Given the description of an element on the screen output the (x, y) to click on. 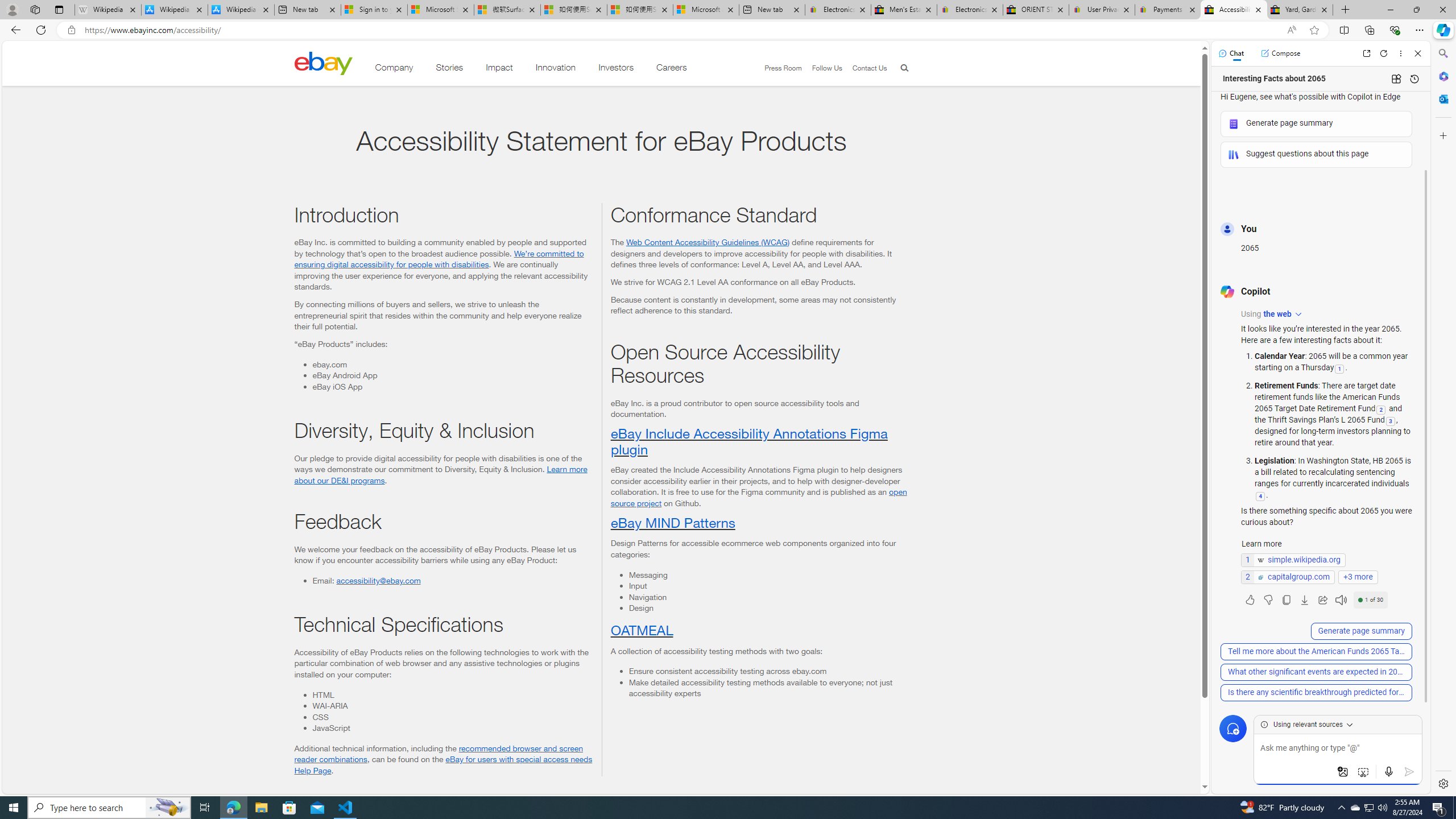
Company (393, 69)
Careers (671, 69)
eBay MIND Patterns (672, 522)
Careers (671, 69)
Class: desktop (323, 63)
eBay Android App (451, 374)
accessibility@ebay.com (378, 579)
Contact Us (868, 67)
OATMEAL (641, 629)
